Given the description of an element on the screen output the (x, y) to click on. 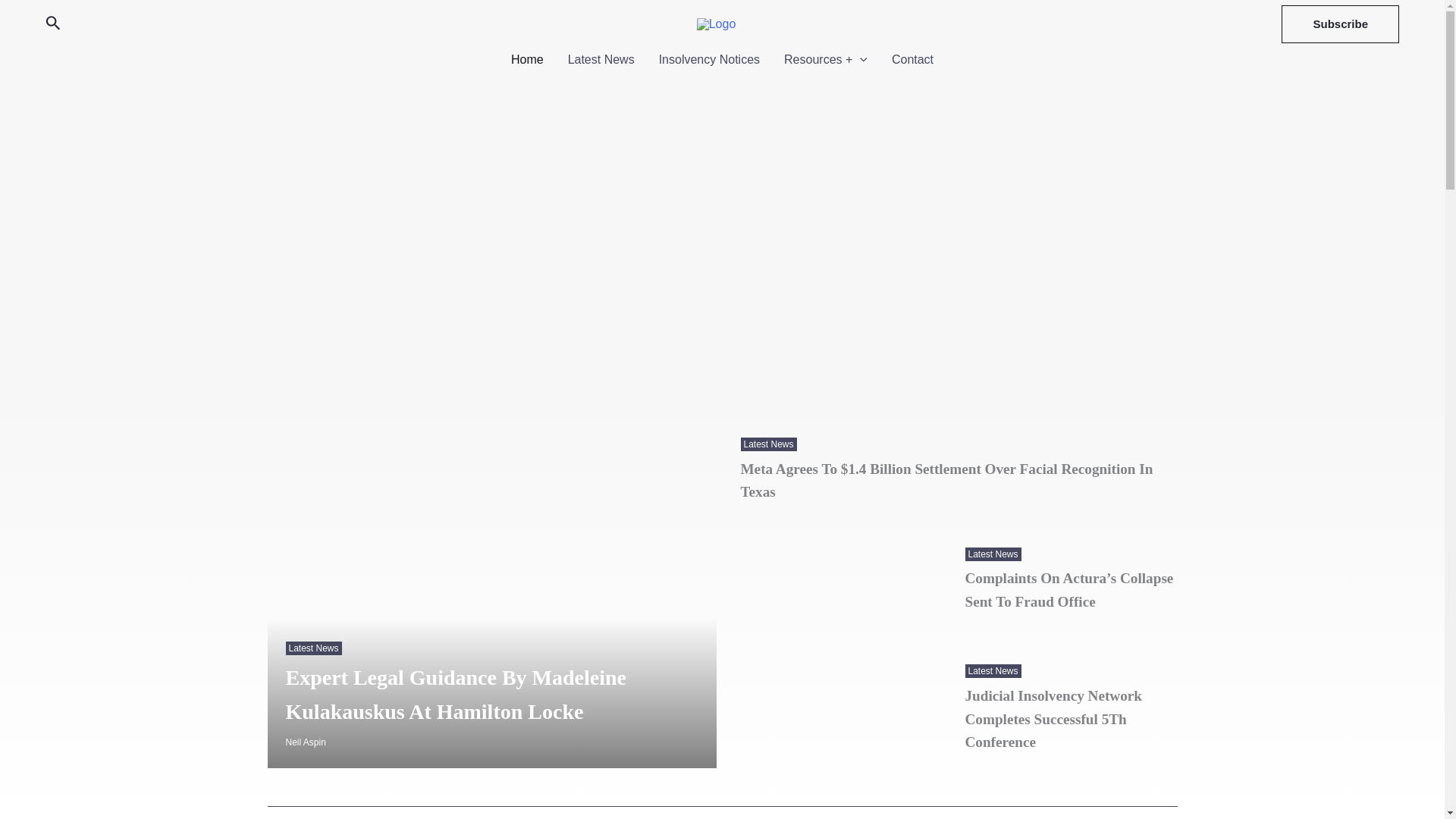
Latest News (992, 553)
Latest News (312, 647)
Neil Aspin (304, 742)
Insolvency Notices (708, 59)
Home (527, 59)
Subscribe (1340, 23)
Contact (911, 59)
Latest News (767, 443)
Latest News (601, 59)
Latest News (992, 670)
Posts by Neil Aspin (304, 742)
